Given the description of an element on the screen output the (x, y) to click on. 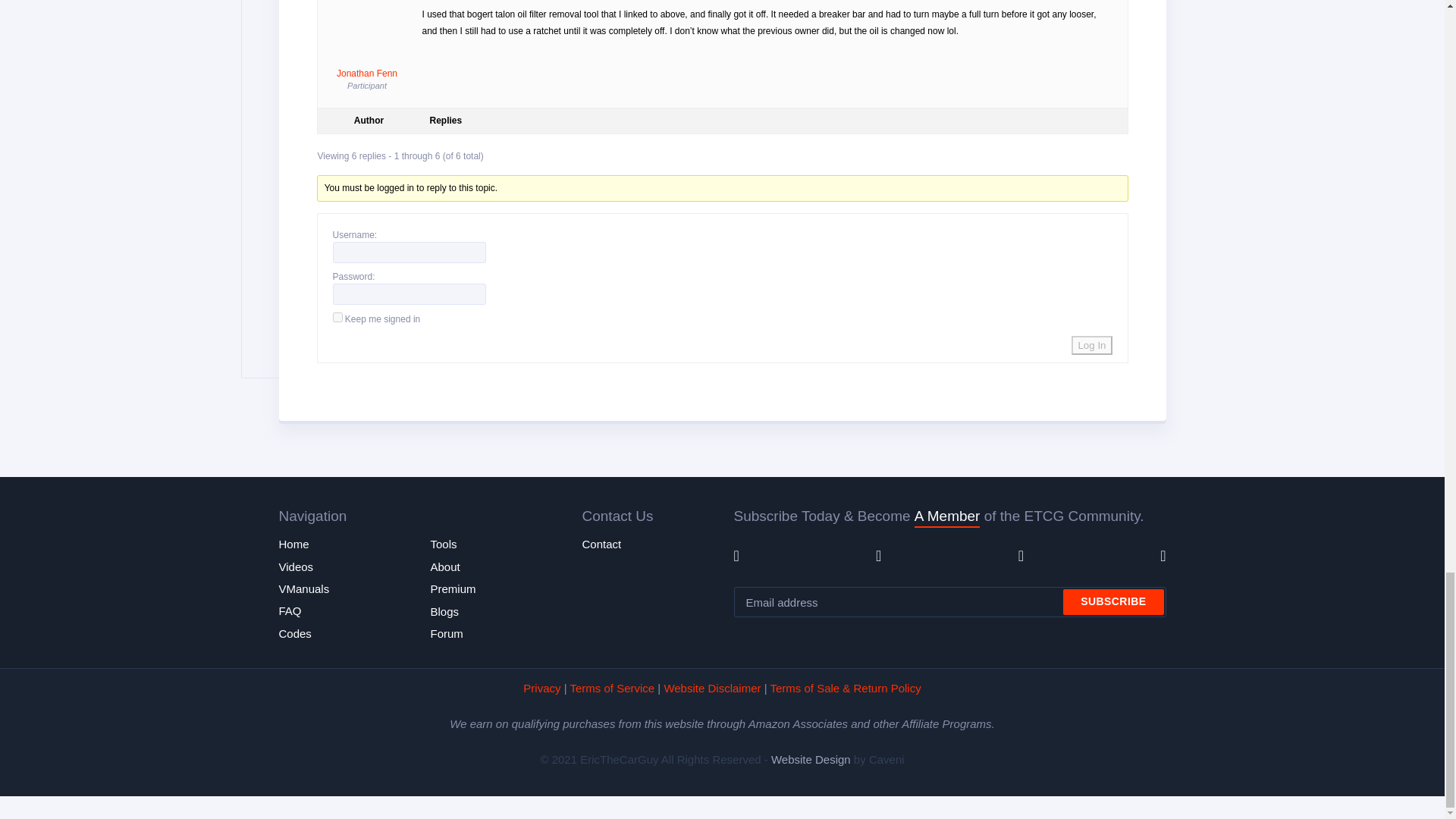
forever (336, 317)
Subscribe (1112, 601)
View Jonathan Fenn's profile (366, 43)
